Given the description of an element on the screen output the (x, y) to click on. 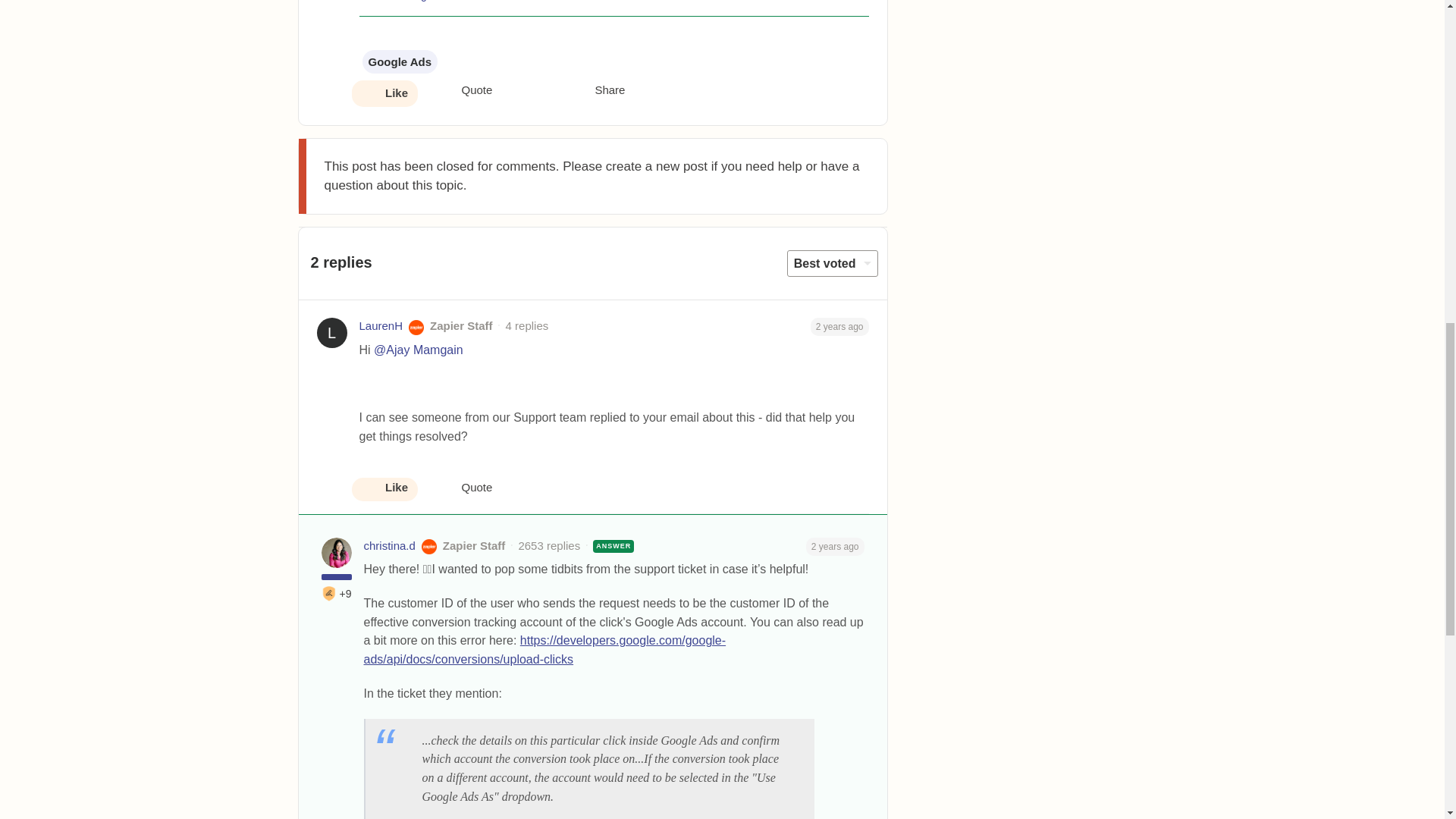
Quote (464, 91)
christina.d (389, 546)
LaurenH (381, 325)
Like (383, 94)
View original (414, 0)
Google Ads (400, 61)
First Best Answer (328, 593)
